Given the description of an element on the screen output the (x, y) to click on. 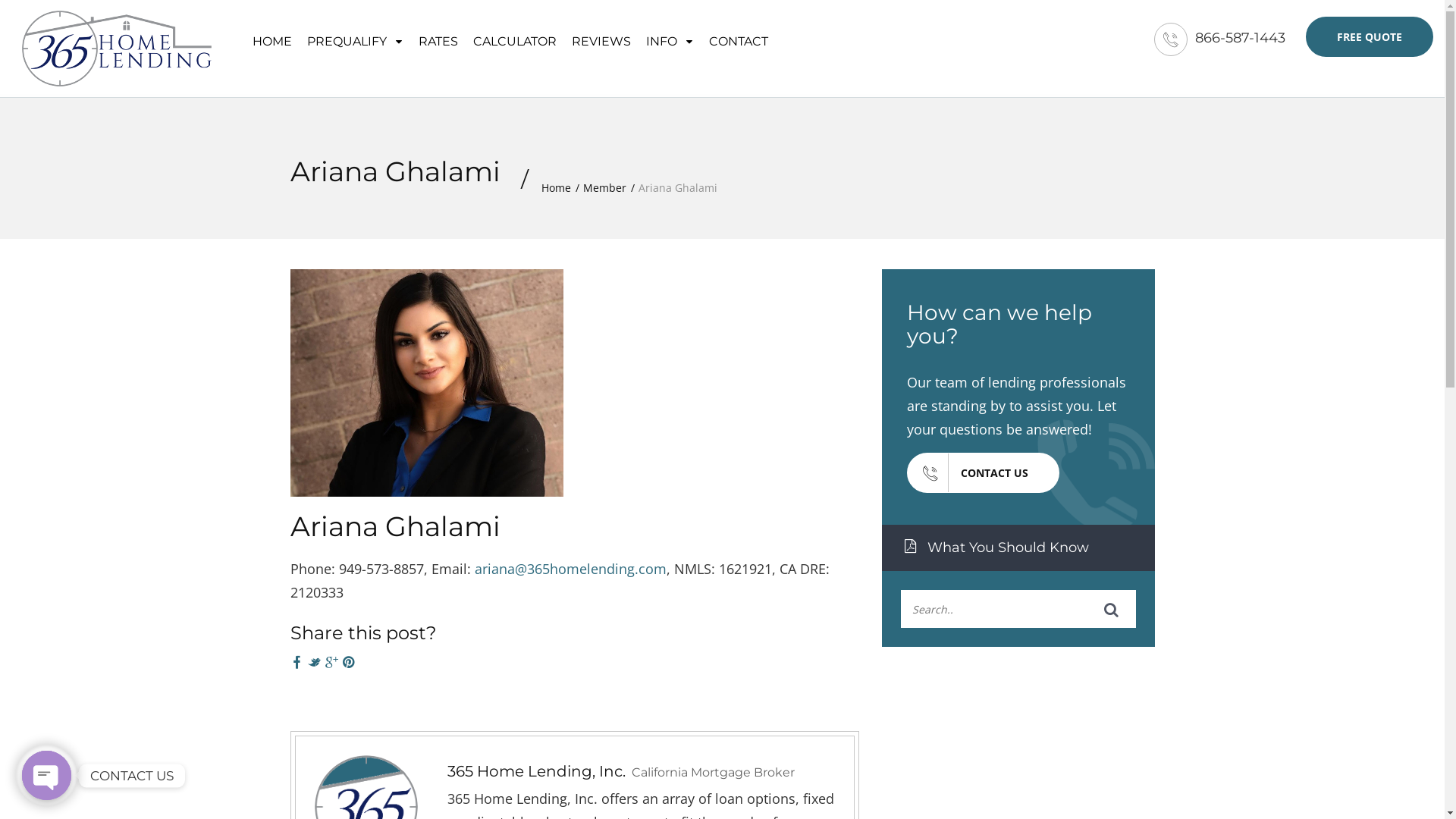
CONTACT US Element type: text (982, 472)
FREE QUOTE Element type: text (1369, 36)
RATES Element type: text (438, 39)
ariana@365homelending.com Element type: text (570, 568)
REVIEWS Element type: text (600, 39)
PREQUALIFY Element type: text (355, 39)
Home Element type: text (556, 187)
What You Should Know Element type: text (1017, 547)
CONTACT Element type: text (738, 39)
INFO Element type: text (669, 39)
Member Element type: text (603, 187)
CALCULATOR Element type: text (514, 39)
HOME Element type: text (271, 39)
Ariana Ghalami Element type: text (394, 525)
